Given the description of an element on the screen output the (x, y) to click on. 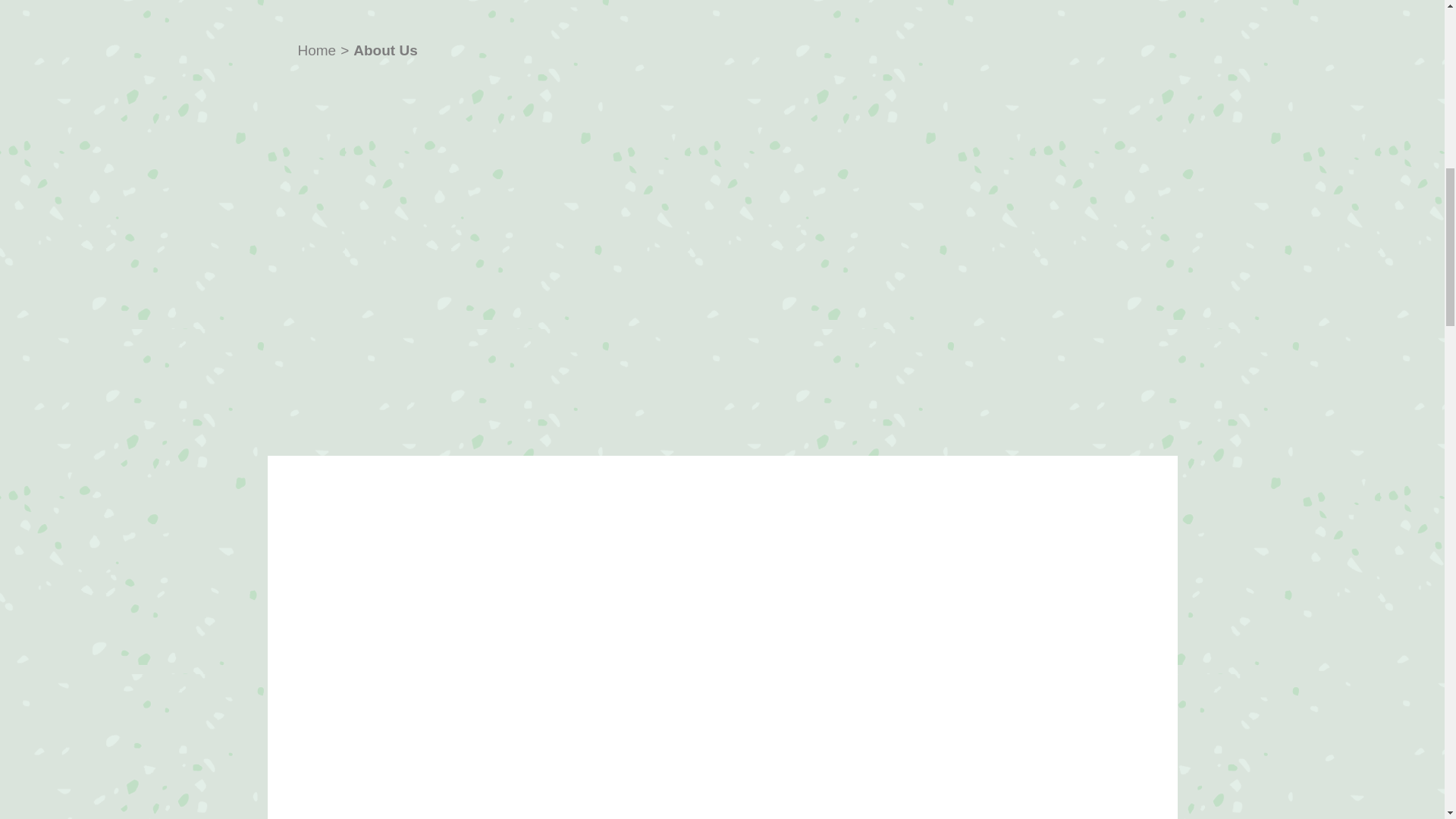
Home (316, 50)
